Given the description of an element on the screen output the (x, y) to click on. 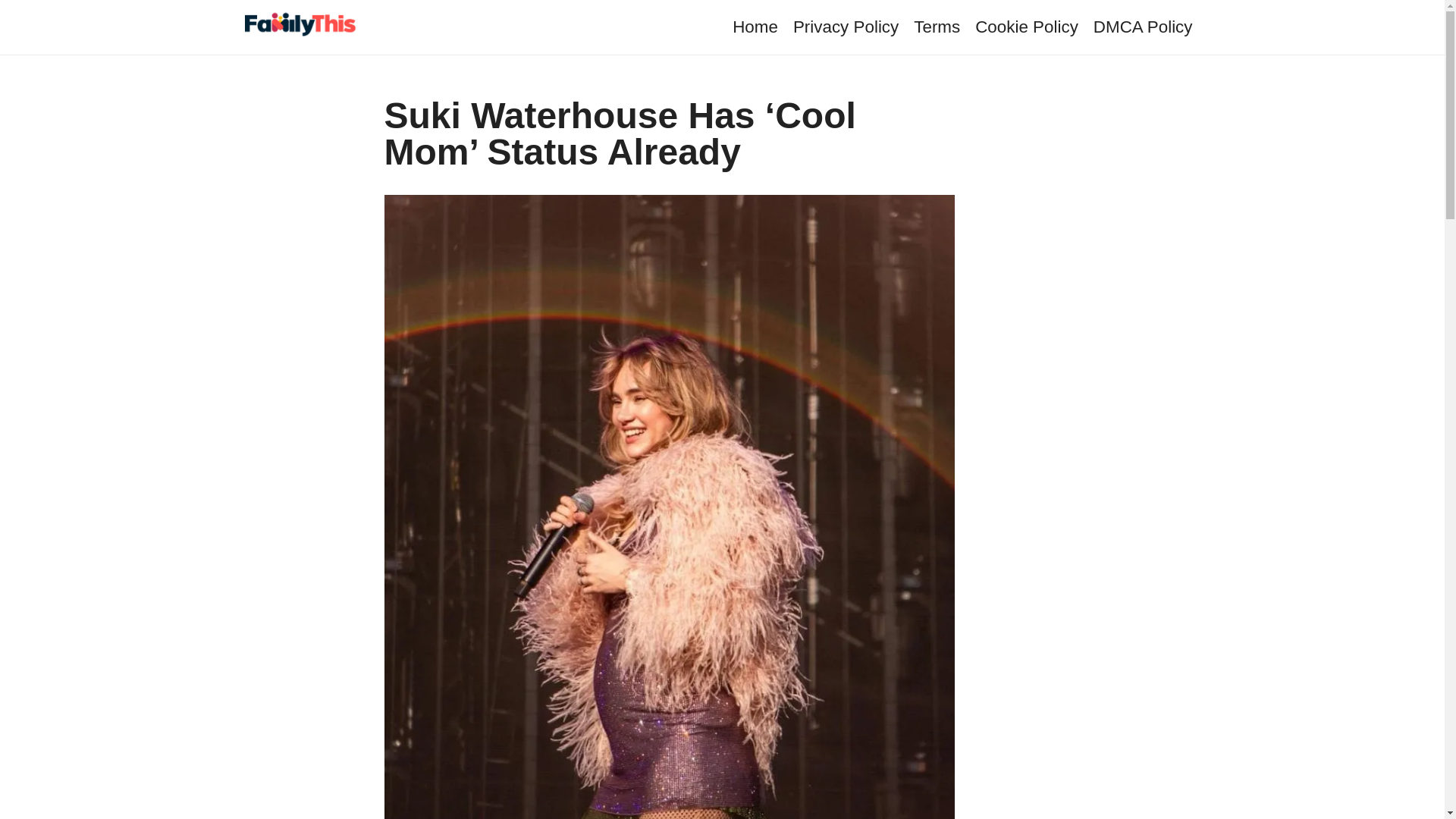
Terms (936, 26)
Privacy Policy (845, 26)
Cookie Policy (1026, 26)
Home (754, 26)
DMCA Policy (1142, 26)
